Given the description of an element on the screen output the (x, y) to click on. 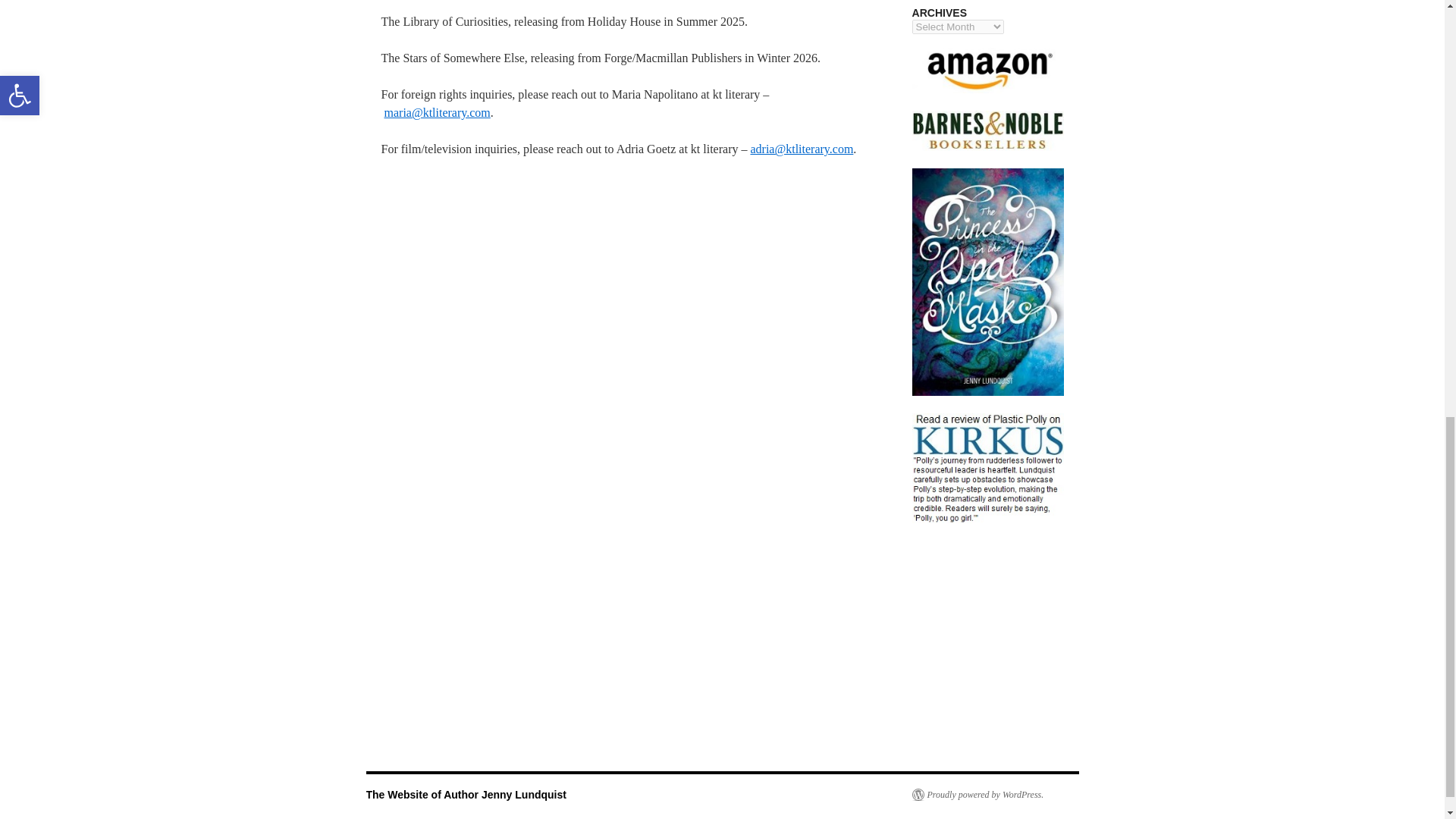
Semantic Personal Publishing Platform (977, 794)
